Given the description of an element on the screen output the (x, y) to click on. 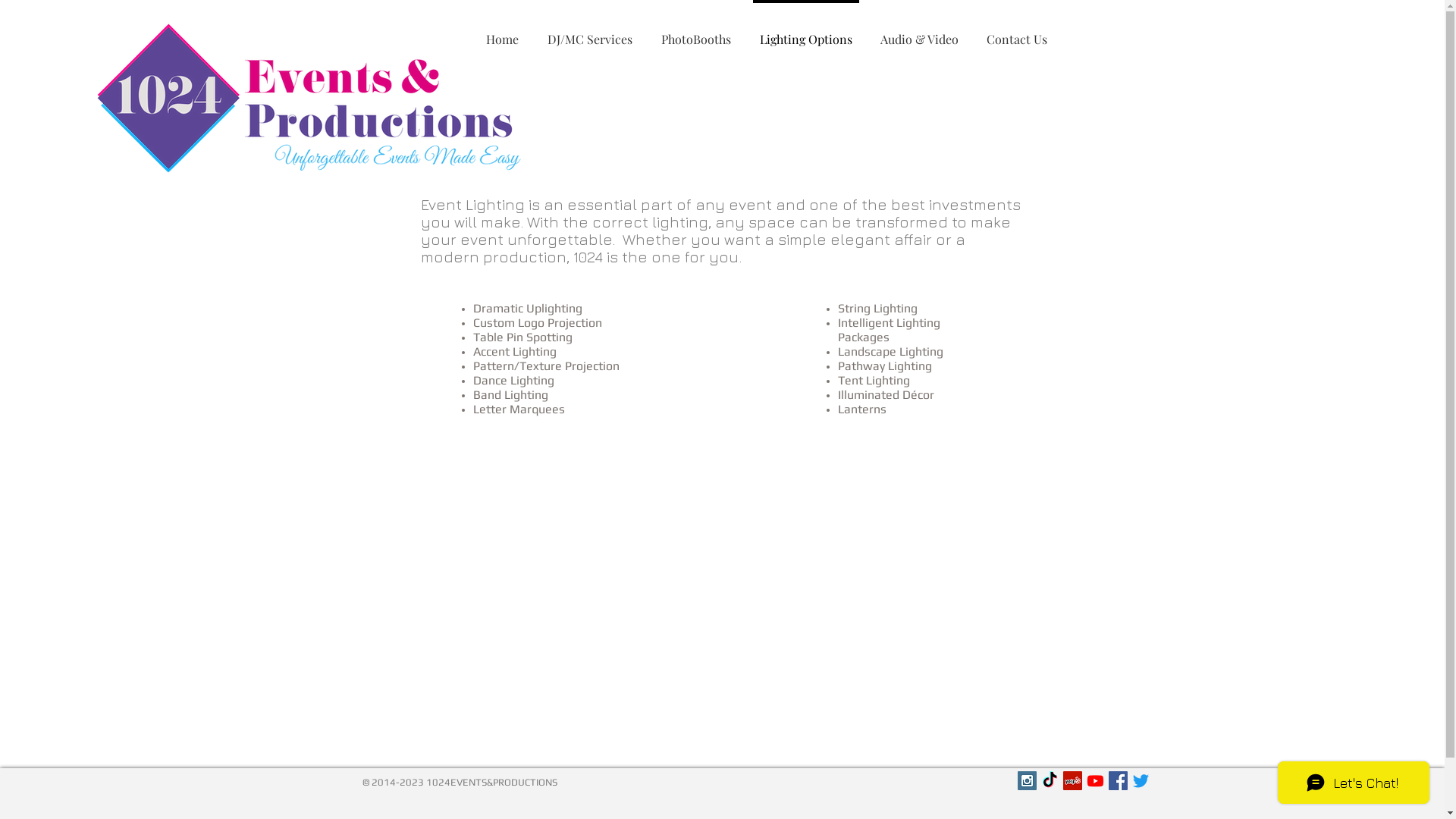
Audio & Video Element type: text (919, 32)
PhotoBooths Element type: text (695, 32)
Contact Us Element type: text (1016, 32)
Home Element type: text (502, 32)
DJ/MC Services Element type: text (589, 32)
Lighting Options Element type: text (805, 32)
